Given the description of an element on the screen output the (x, y) to click on. 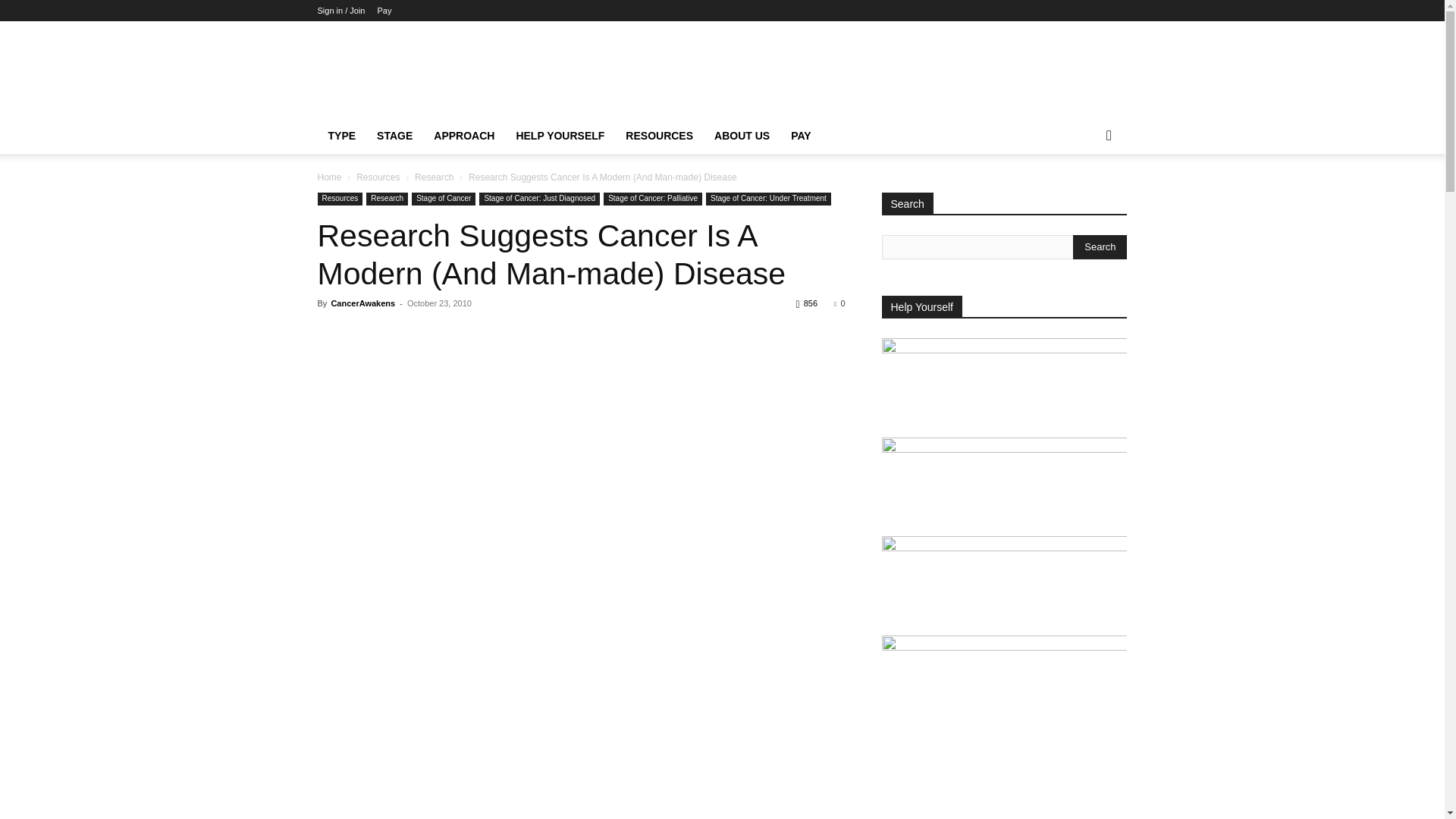
View all posts in Resources (377, 176)
Search (1099, 247)
View all posts in Research (433, 176)
